Given the description of an element on the screen output the (x, y) to click on. 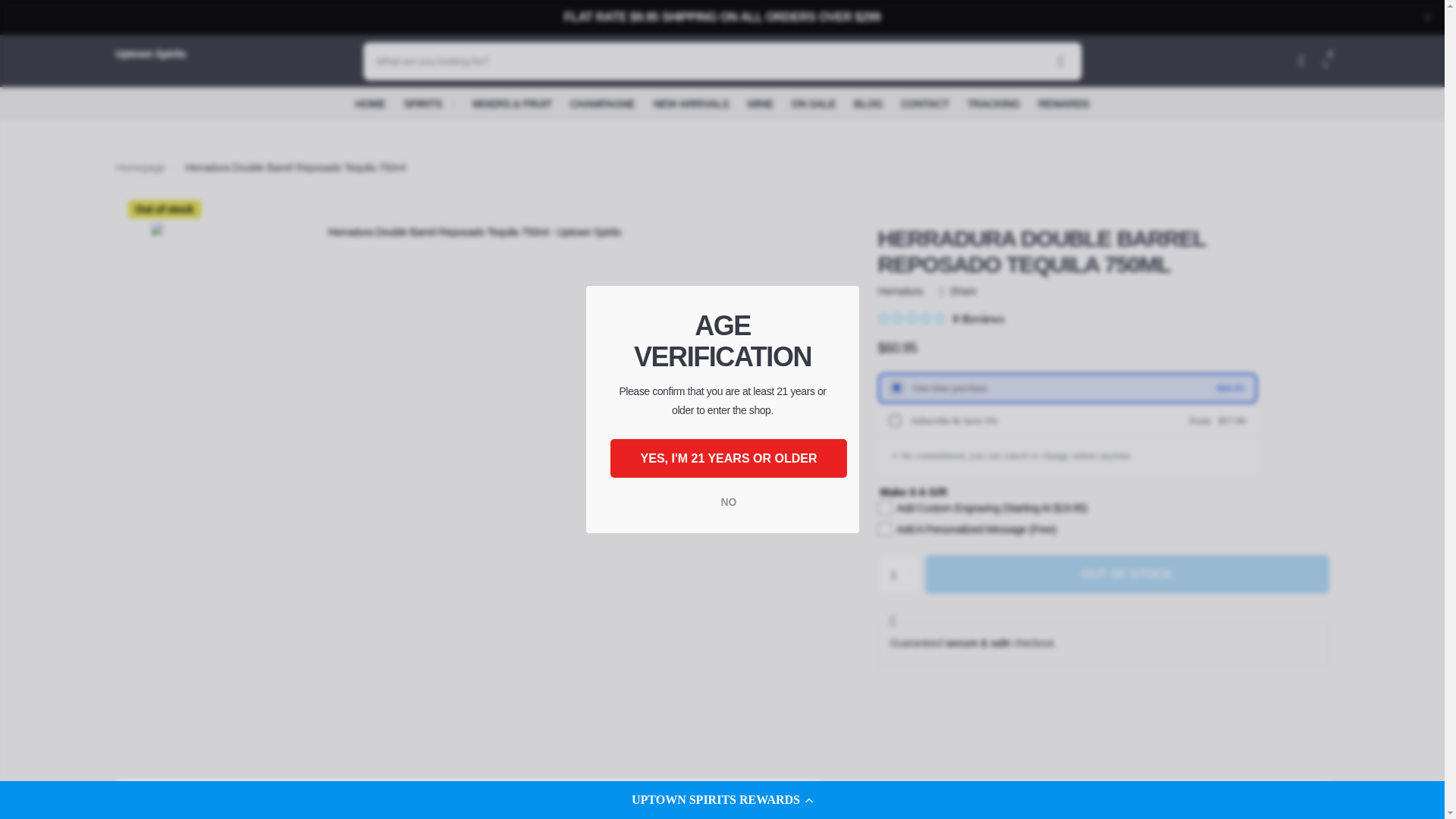
ZOEKEN (1060, 61)
SPIRITS (428, 103)
HOME (370, 103)
1 (897, 574)
689839603988 (892, 418)
Close (1427, 17)
Home (139, 167)
0 Reviews (940, 318)
